Given the description of an element on the screen output the (x, y) to click on. 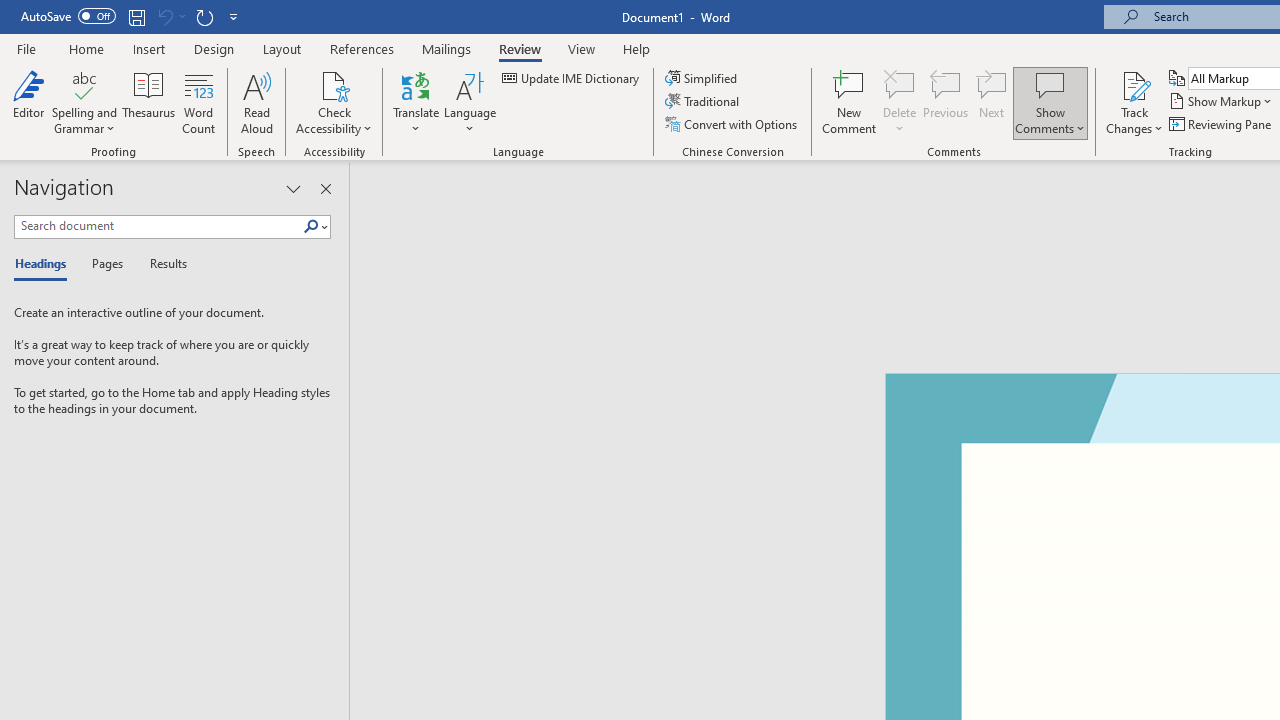
Can't Undo (164, 15)
Next (991, 102)
Delete (900, 84)
Check Accessibility (334, 102)
Track Changes (1134, 84)
Show Comments (1050, 102)
Repeat Doc Close (204, 15)
Simplified (702, 78)
New Comment (849, 102)
